Given the description of an element on the screen output the (x, y) to click on. 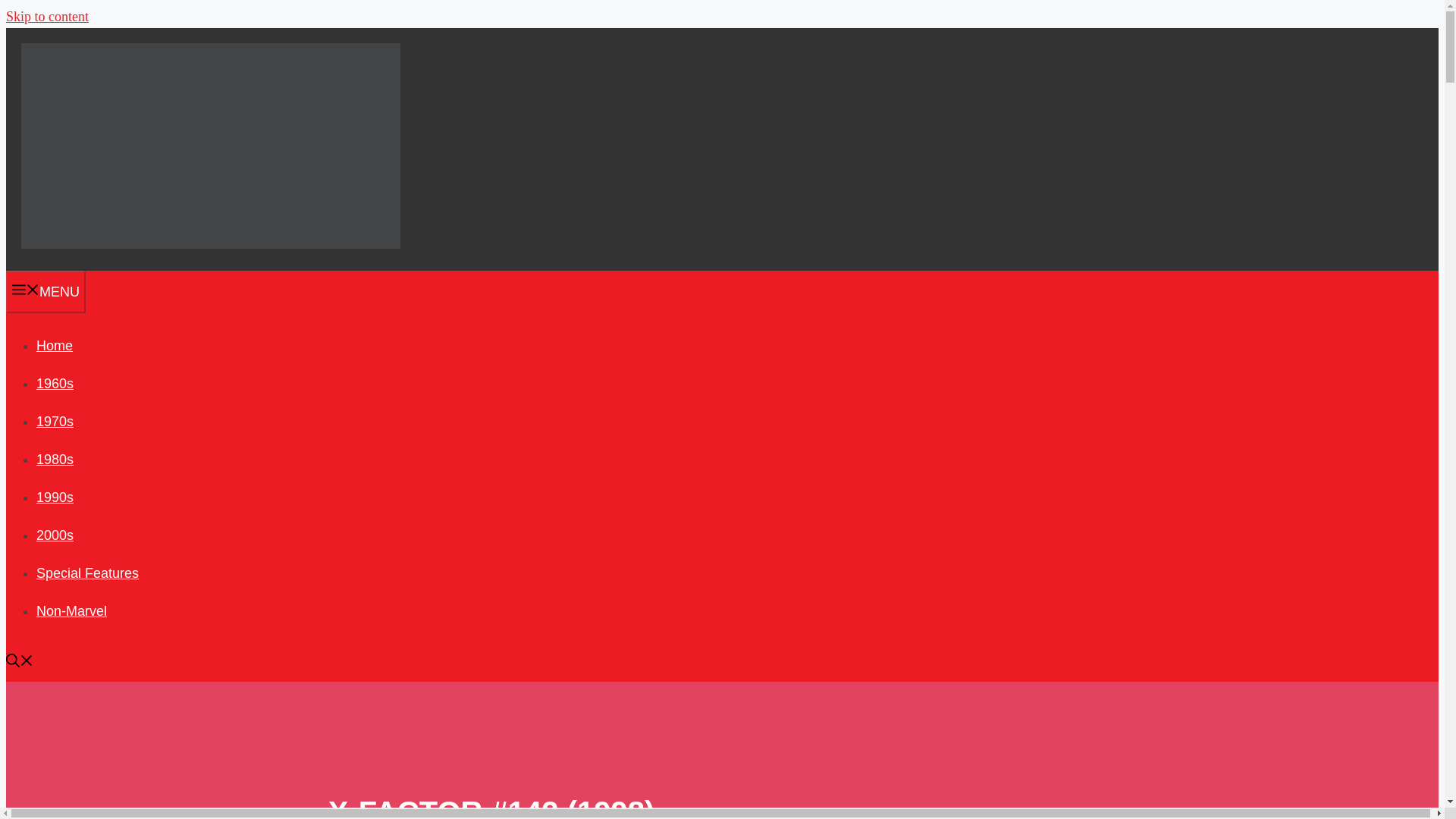
Skip to content (46, 16)
1990s (55, 497)
1960s (55, 383)
1980s (55, 459)
Skip to content (46, 16)
Non-Marvel (71, 611)
2000s (55, 534)
MENU (45, 291)
1970s (55, 421)
Home (54, 345)
